Given the description of an element on the screen output the (x, y) to click on. 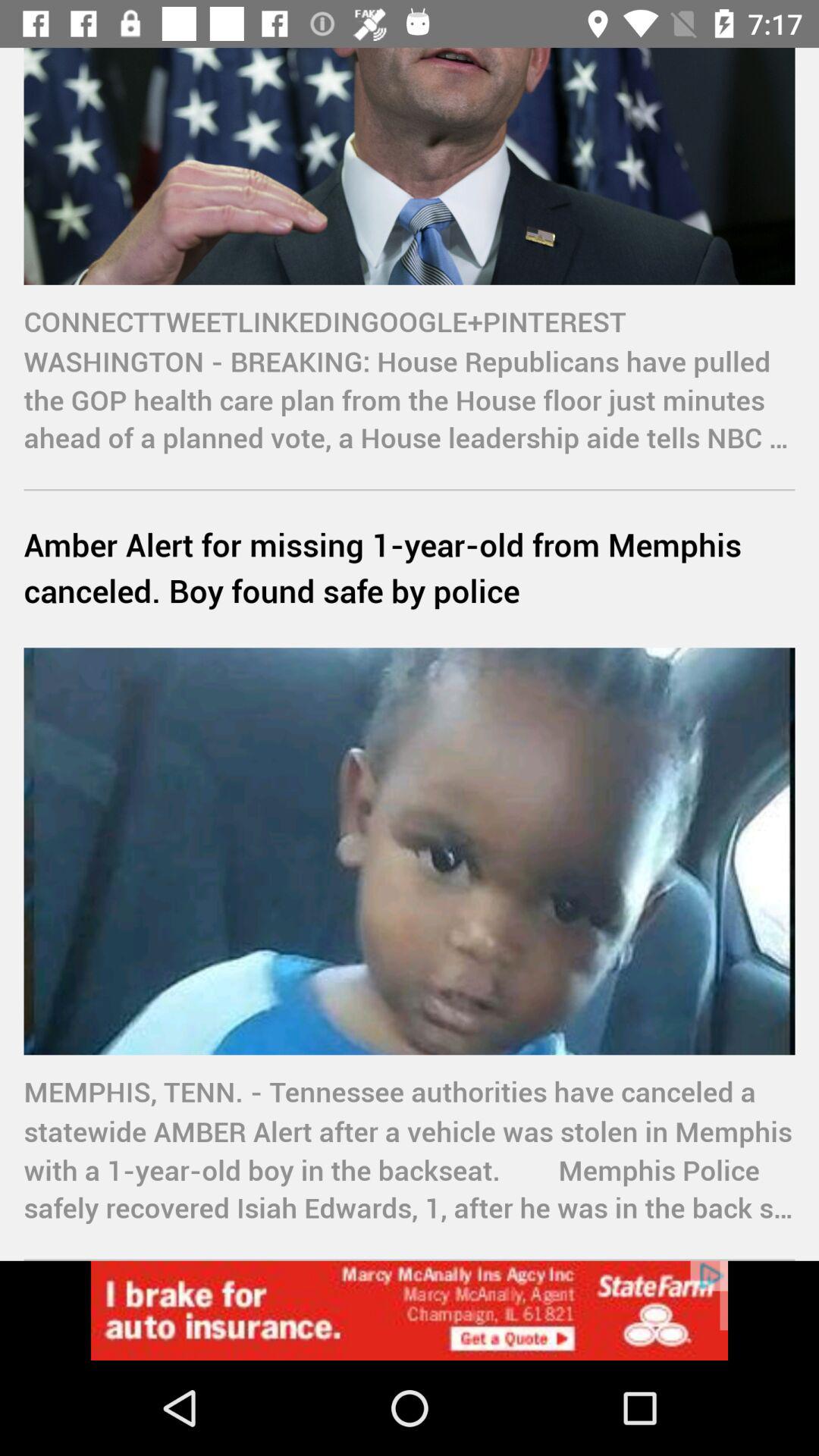
select auto insurance advertisement (409, 1310)
